Given the description of an element on the screen output the (x, y) to click on. 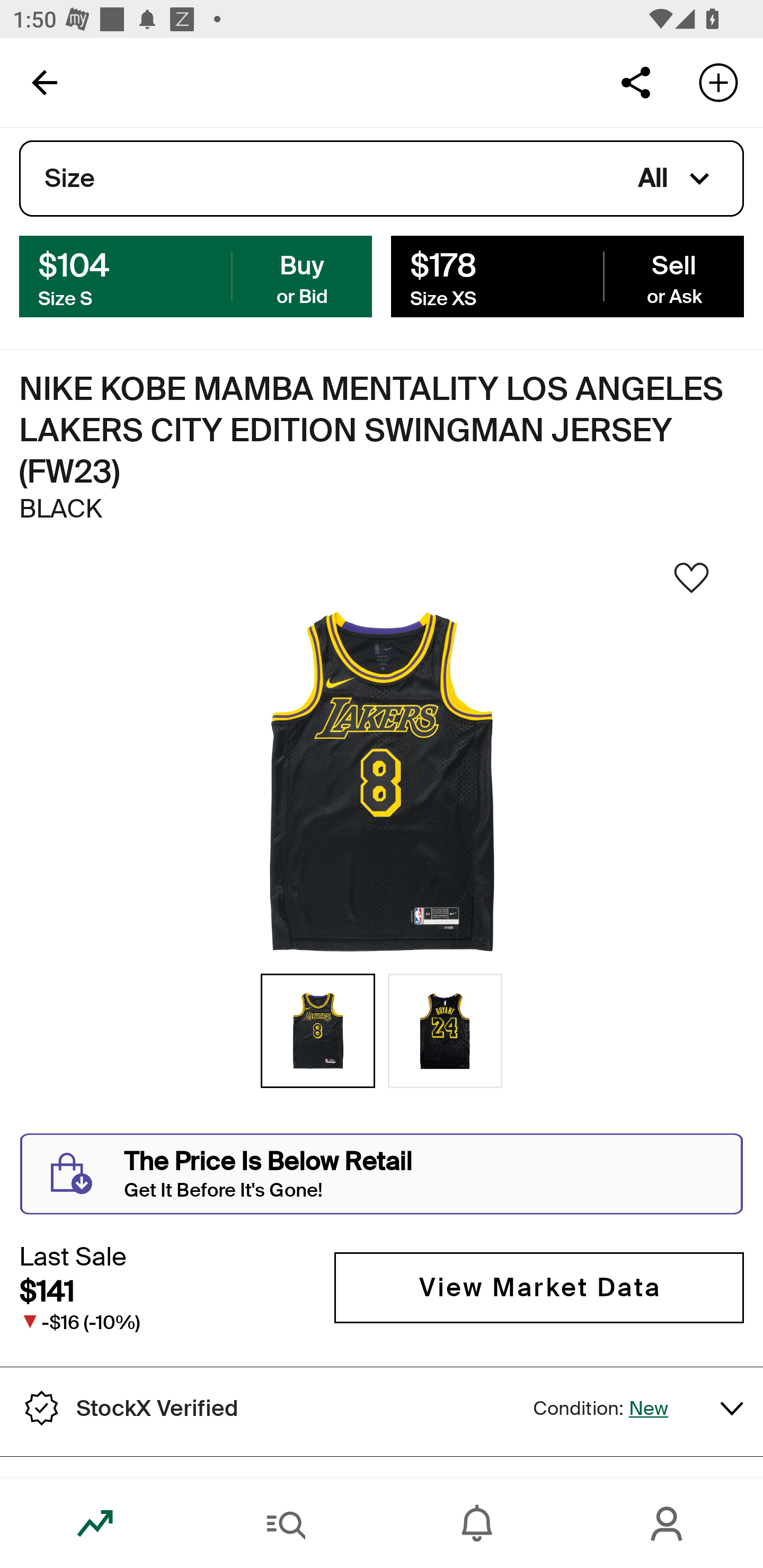
Share (635, 81)
Add (718, 81)
Size All (381, 178)
$104 Buy Size S or Bid (195, 275)
$178 Sell Size XS or Ask (566, 275)
Sneaker Image (381, 782)
View Market Data (538, 1287)
Search (285, 1523)
Inbox (476, 1523)
Account (667, 1523)
